Given the description of an element on the screen output the (x, y) to click on. 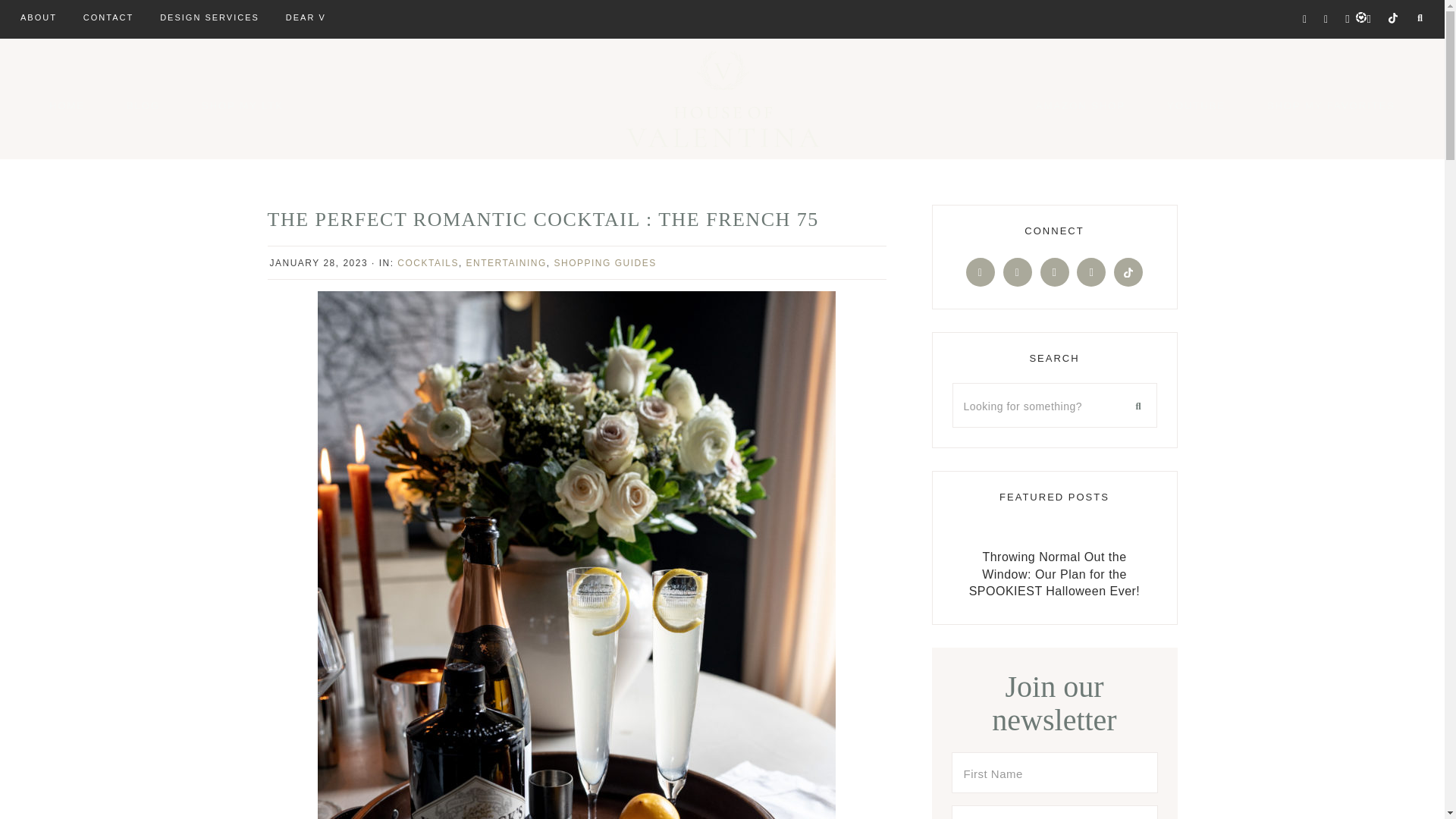
CONTACT (107, 18)
HOME (66, 104)
SHOP MY FAVORITES (1330, 104)
DEAR V (306, 18)
COCKTAILS (427, 262)
DESIGN SERVICES (209, 18)
BLOG (143, 104)
AMAZON SHOP (1080, 104)
SHOP MY LTK (242, 104)
